Given the description of an element on the screen output the (x, y) to click on. 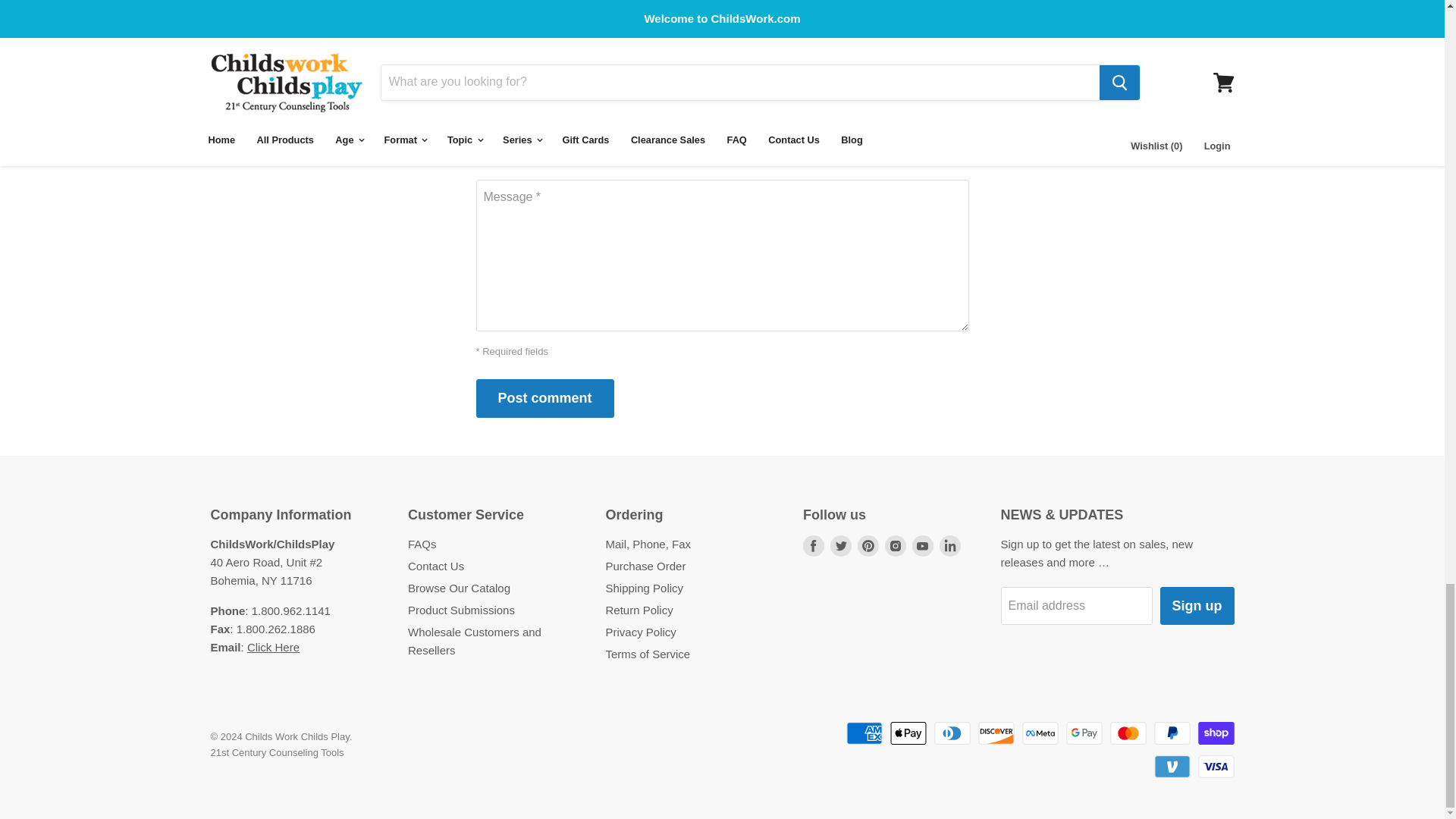
Twitter (840, 545)
American Express (863, 732)
Youtube (922, 545)
Pinterest (868, 545)
Instagram (895, 545)
Contact Us (273, 646)
Apple Pay (907, 732)
LinkedIn (949, 545)
Facebook (813, 545)
